Given the description of an element on the screen output the (x, y) to click on. 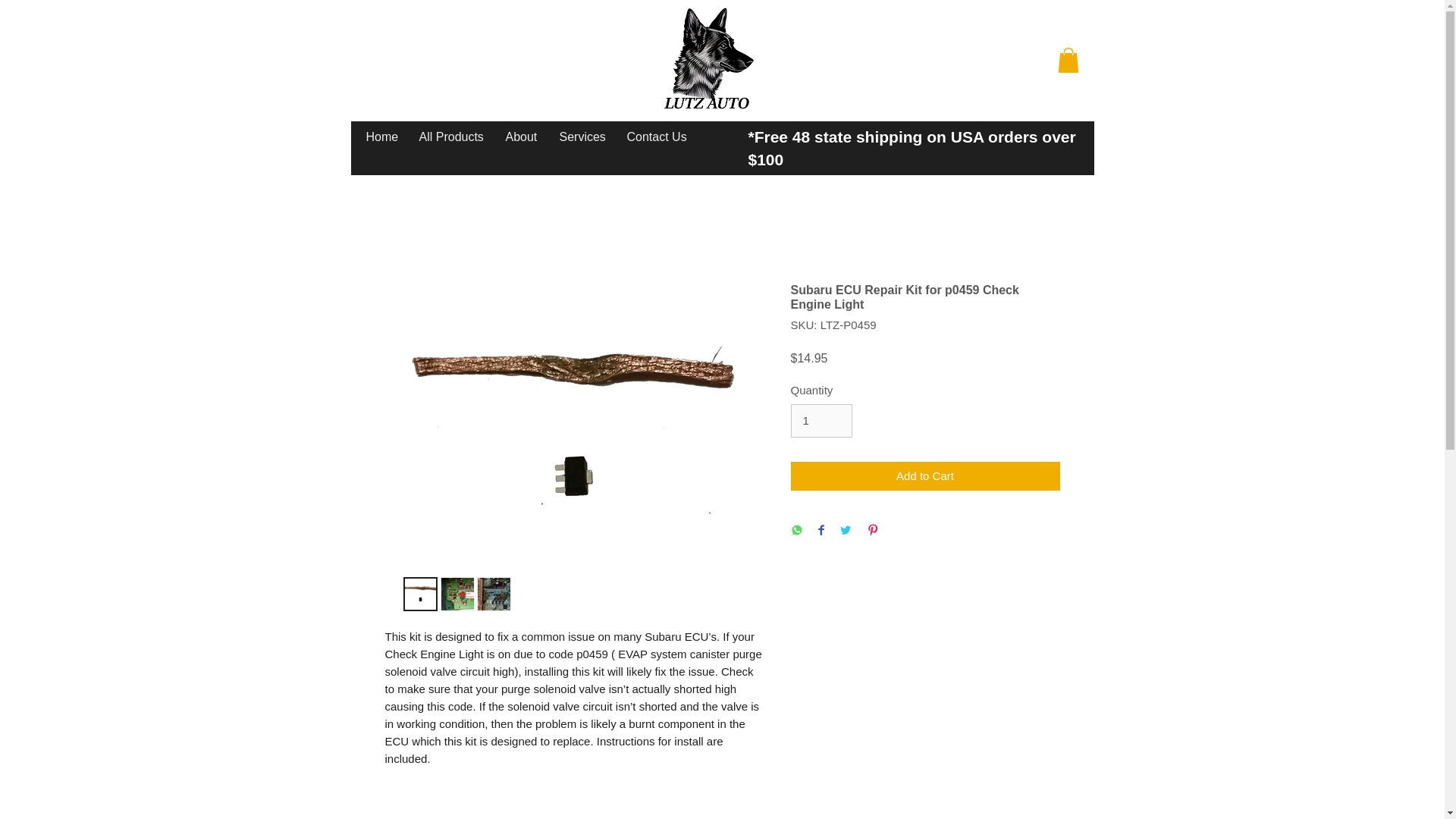
Services (580, 136)
About (521, 136)
1 (820, 420)
All Products (451, 136)
Add to Cart (924, 475)
Home (381, 136)
Contact Us (654, 136)
